Given the description of an element on the screen output the (x, y) to click on. 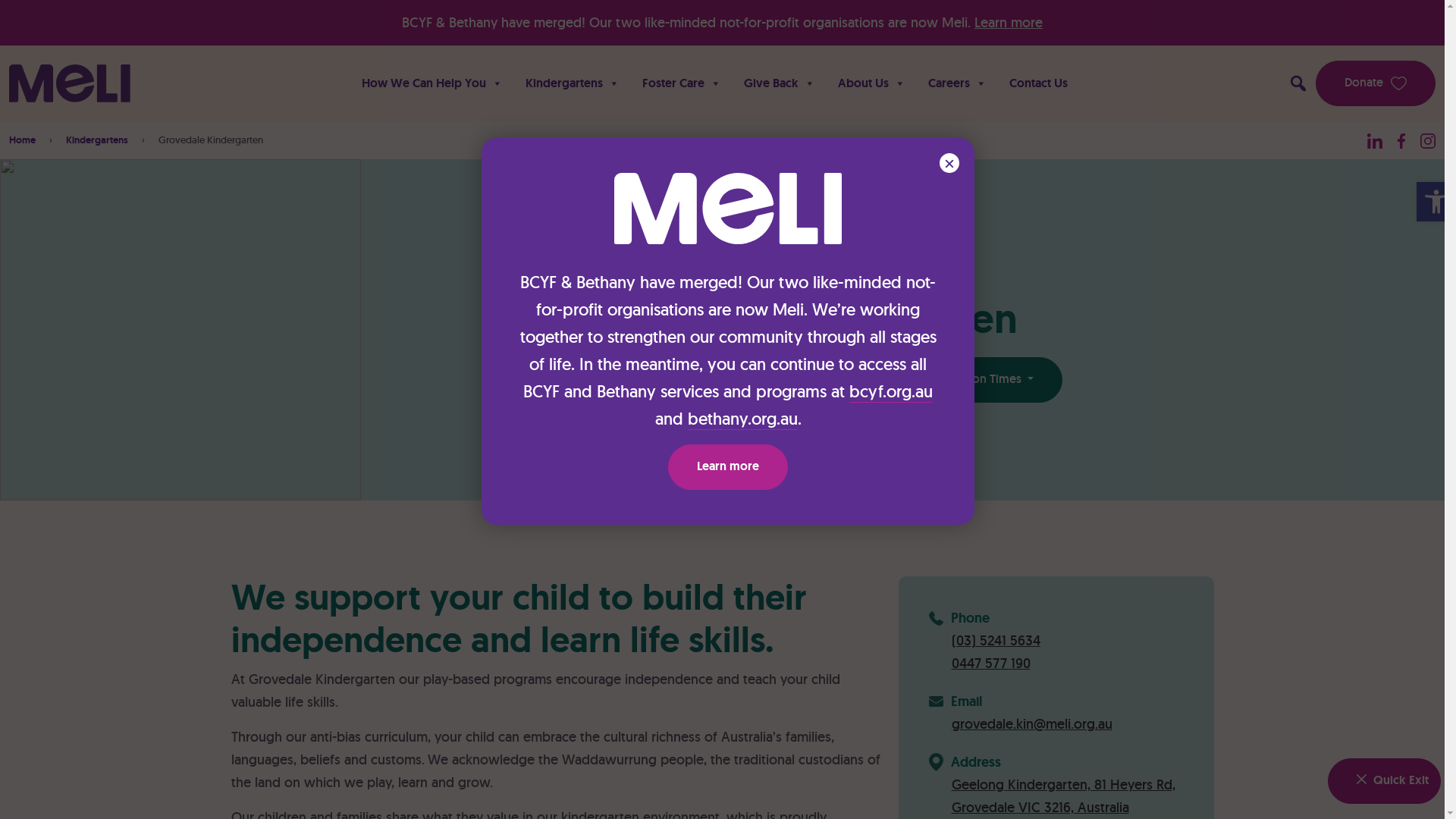
Kindergartens Element type: text (572, 83)
Learn more Element type: text (1008, 22)
bethany.org.au Element type: text (742, 418)
0447 577 190 Element type: text (1066, 663)
(03) 5241 5634 Element type: text (1066, 640)
Home Element type: text (22, 139)
bcyf.org.au Element type: text (890, 391)
Register here Element type: text (837, 379)
Kindergartens Element type: text (96, 139)
How We Can Help You Element type: text (432, 83)
Learn more Element type: text (727, 466)
Contact Us Element type: text (1038, 83)
Foster Care Element type: text (681, 83)
Quick Exit Element type: text (1383, 780)
Careers Element type: text (956, 83)
Session Times Element type: text (988, 379)
Give Back Element type: text (779, 83)
About Us Element type: text (871, 83)
grovedale.kin@meli.org.au Element type: text (1066, 723)
Donate Element type: text (1375, 83)
